Given the description of an element on the screen output the (x, y) to click on. 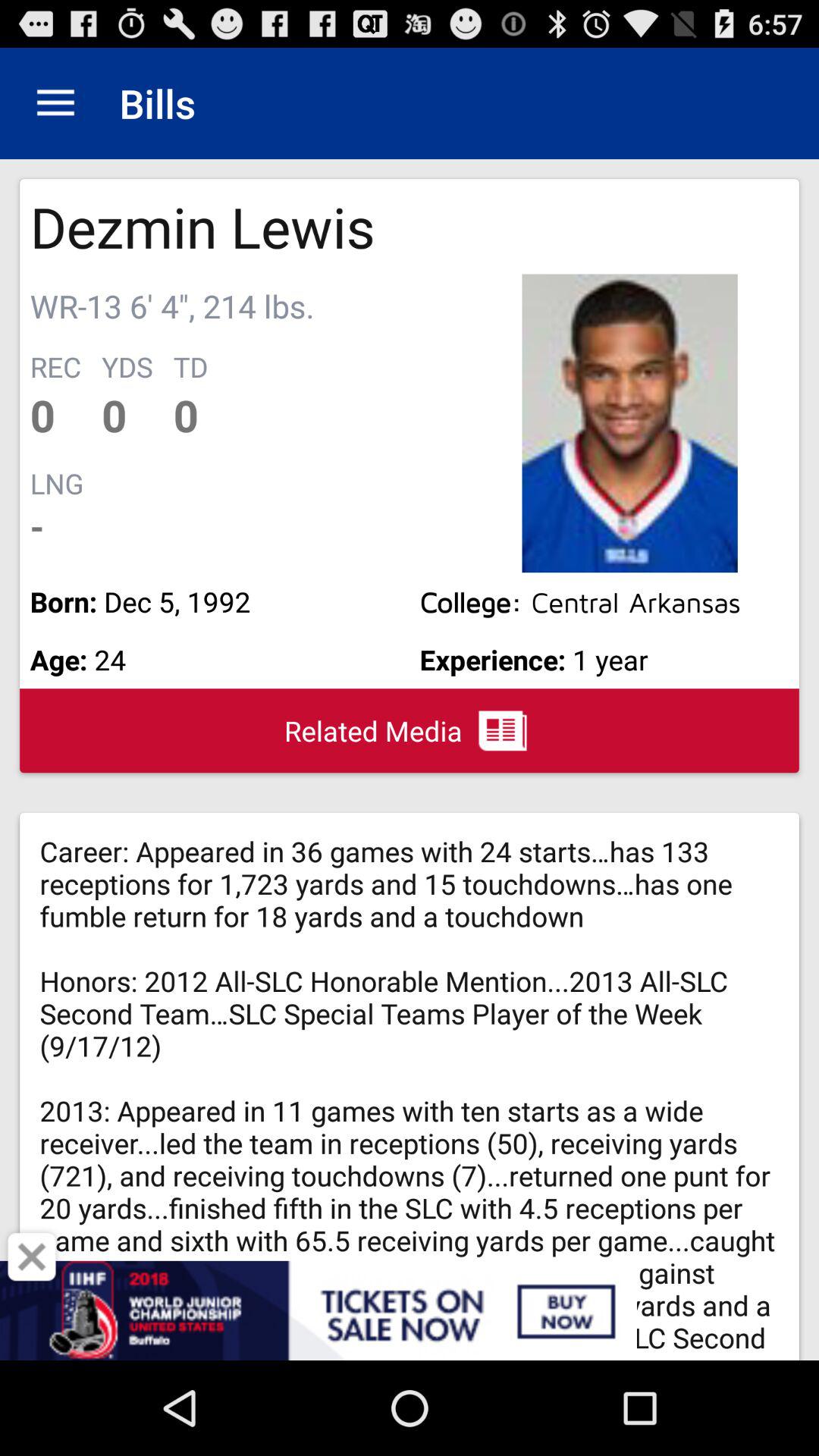
press the item above dezmin lewis (55, 103)
